Given the description of an element on the screen output the (x, y) to click on. 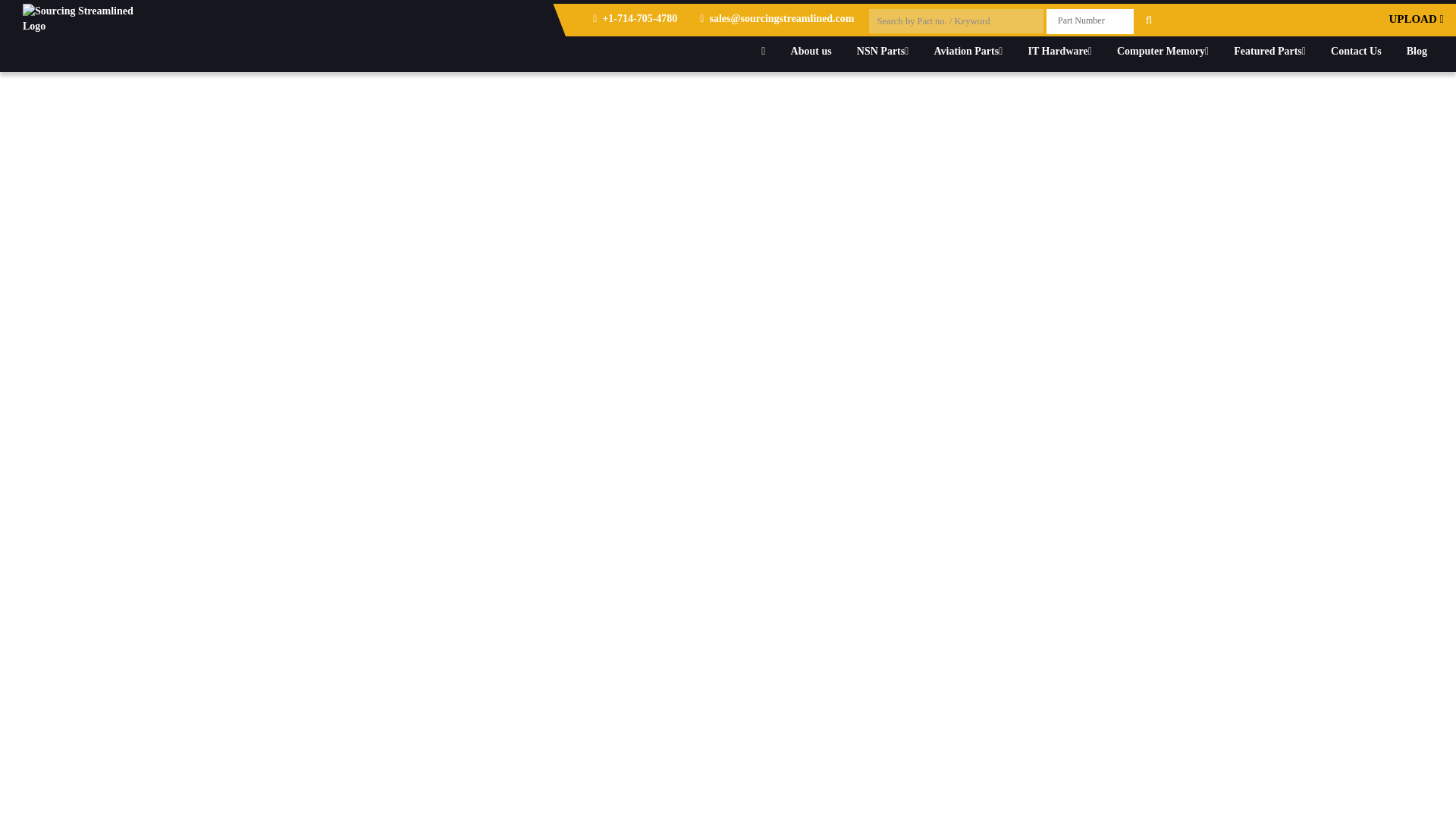
Blog (1416, 51)
Contact Us (1356, 51)
Featured Parts (1270, 51)
Aviation Parts (968, 51)
NSN Parts (882, 51)
About us (810, 51)
Computer Memory (1162, 51)
IT Hardware (1059, 51)
